Given the description of an element on the screen output the (x, y) to click on. 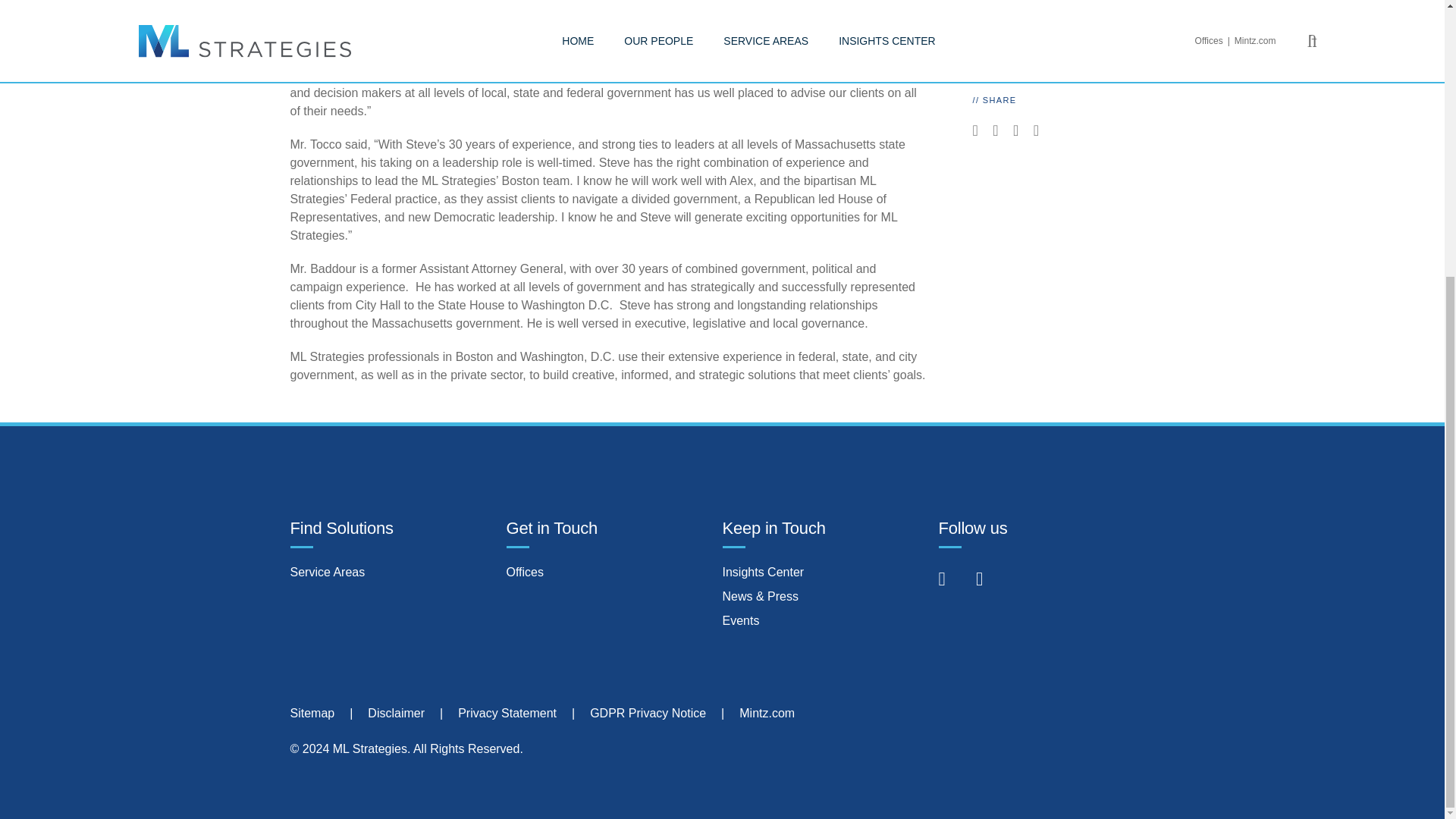
Alexander Hecht (1016, 24)
Events (740, 620)
Twitter (990, 580)
Steven A. Baddour (1022, 3)
Disclaimer (396, 712)
LinkedIn (954, 580)
Stephen P. Tocco (1018, 49)
Insights Center (762, 571)
Privacy Statement (507, 712)
Sitemap (311, 712)
Service Areas (327, 571)
GDPR Privacy Notice (647, 712)
Offices (525, 571)
